Given the description of an element on the screen output the (x, y) to click on. 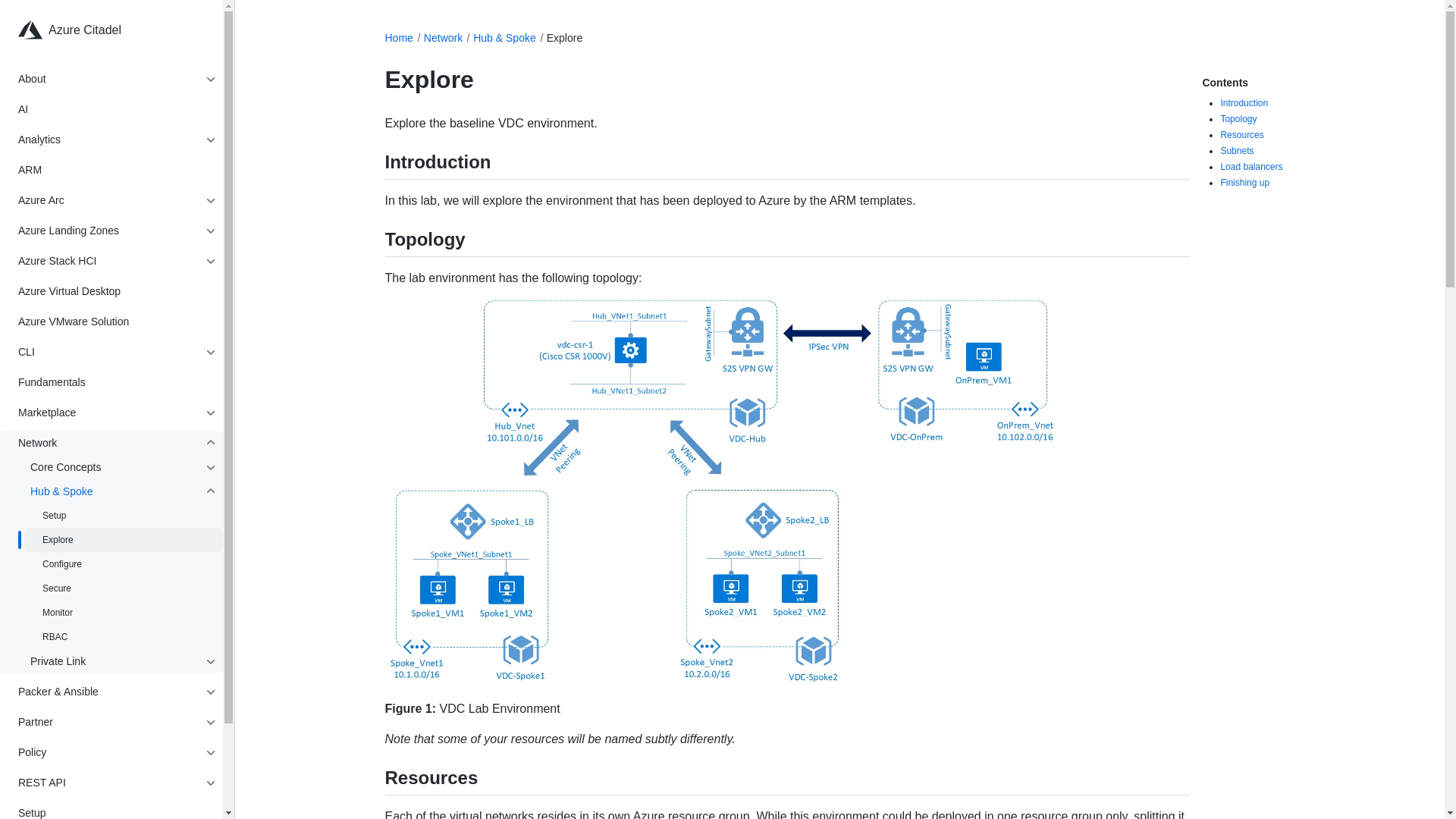
Azure Arc (107, 200)
AI (116, 109)
Analytics (107, 139)
Azure Arc (107, 200)
ARM (116, 169)
Azure Citadel (123, 30)
About (107, 78)
About (107, 78)
AI (116, 109)
ARM (116, 169)
